Given the description of an element on the screen output the (x, y) to click on. 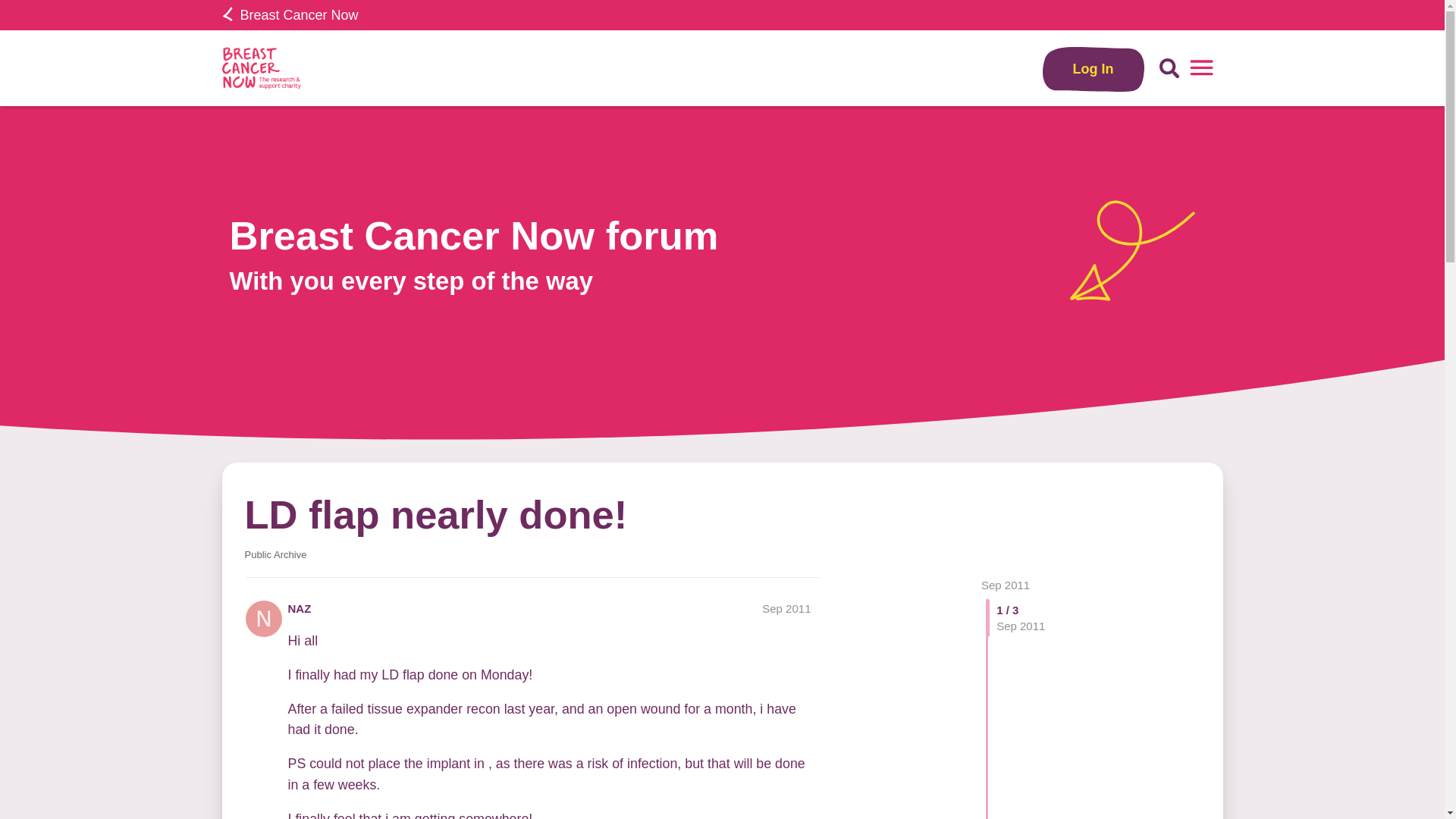
Sep 2011 (1005, 584)
Log In (1093, 68)
Sep 2011 (1005, 584)
Post date (785, 608)
Search (1169, 68)
Breast Cancer Now (289, 15)
LD flap nearly done! (435, 514)
Sep 2011 (785, 608)
NAZ (299, 608)
menu (1201, 67)
